Given the description of an element on the screen output the (x, y) to click on. 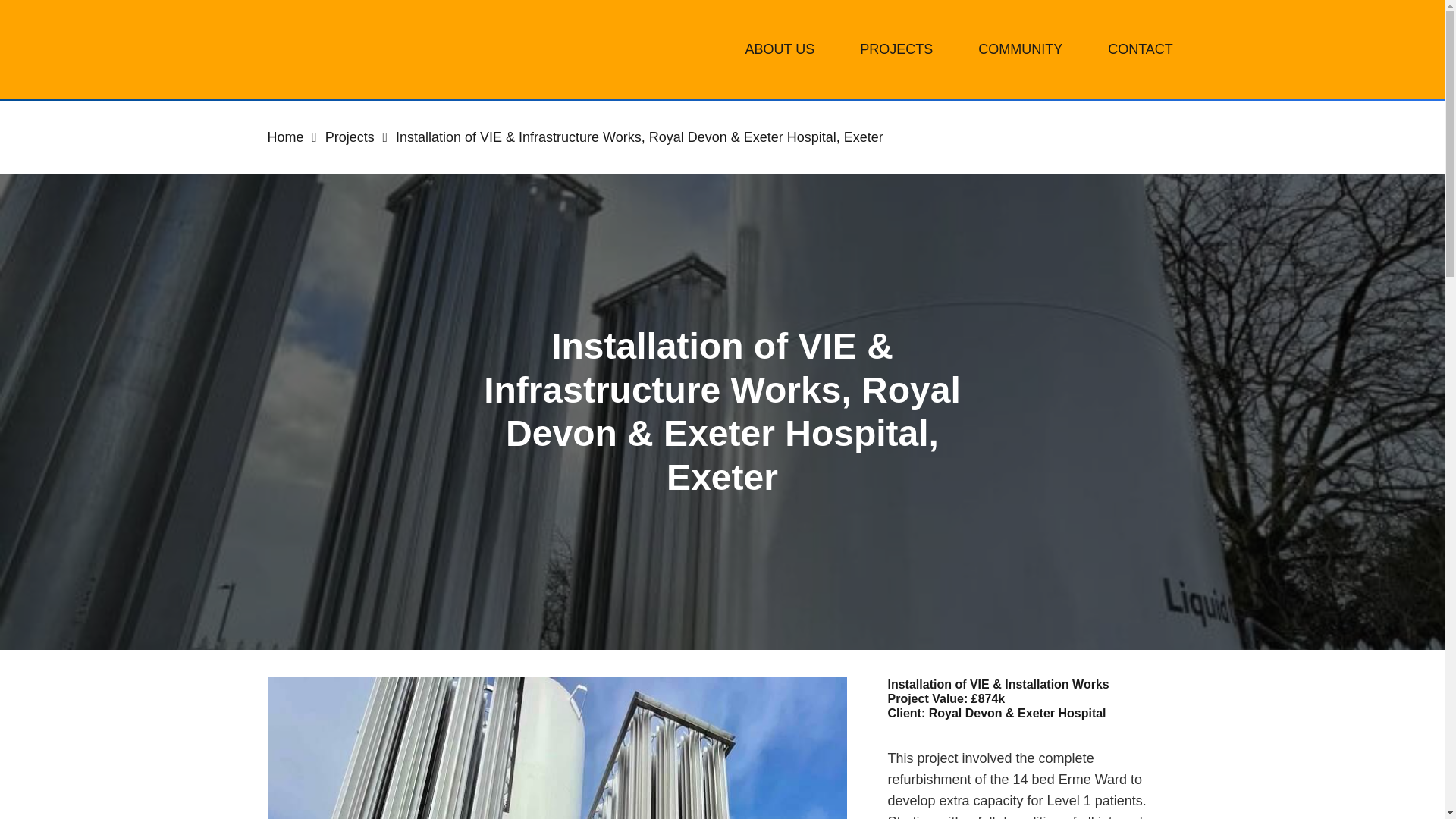
CONTACT (1139, 49)
Projects (349, 136)
COMMUNITY (1019, 49)
ABOUT US (779, 49)
Home (284, 136)
PROJECTS (896, 49)
Title (269, 664)
Title (303, 665)
Title (334, 664)
